Given the description of an element on the screen output the (x, y) to click on. 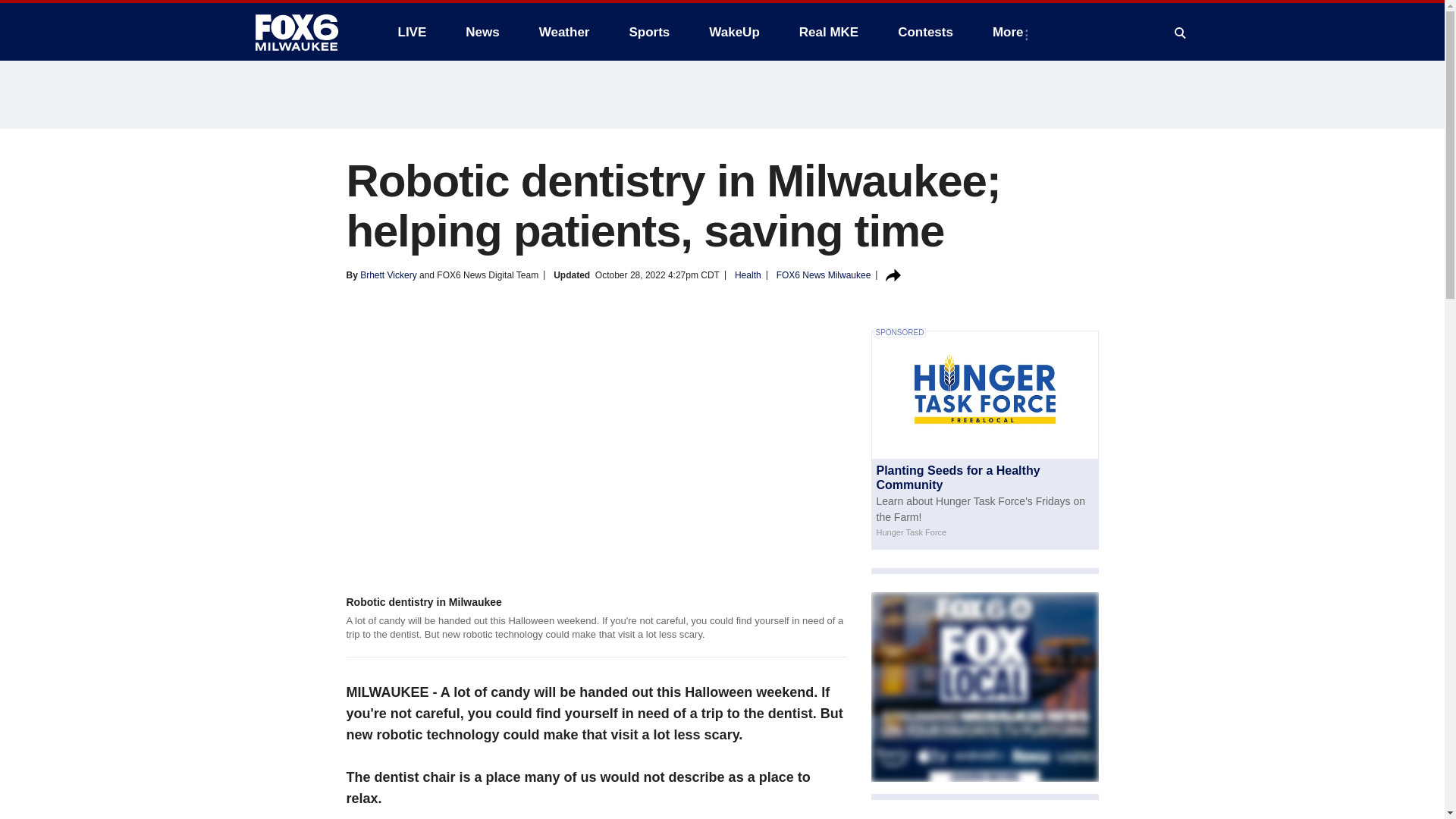
Contests (925, 32)
Weather (564, 32)
LIVE (411, 32)
WakeUp (734, 32)
More (1010, 32)
News (481, 32)
Real MKE (828, 32)
Sports (648, 32)
